Given the description of an element on the screen output the (x, y) to click on. 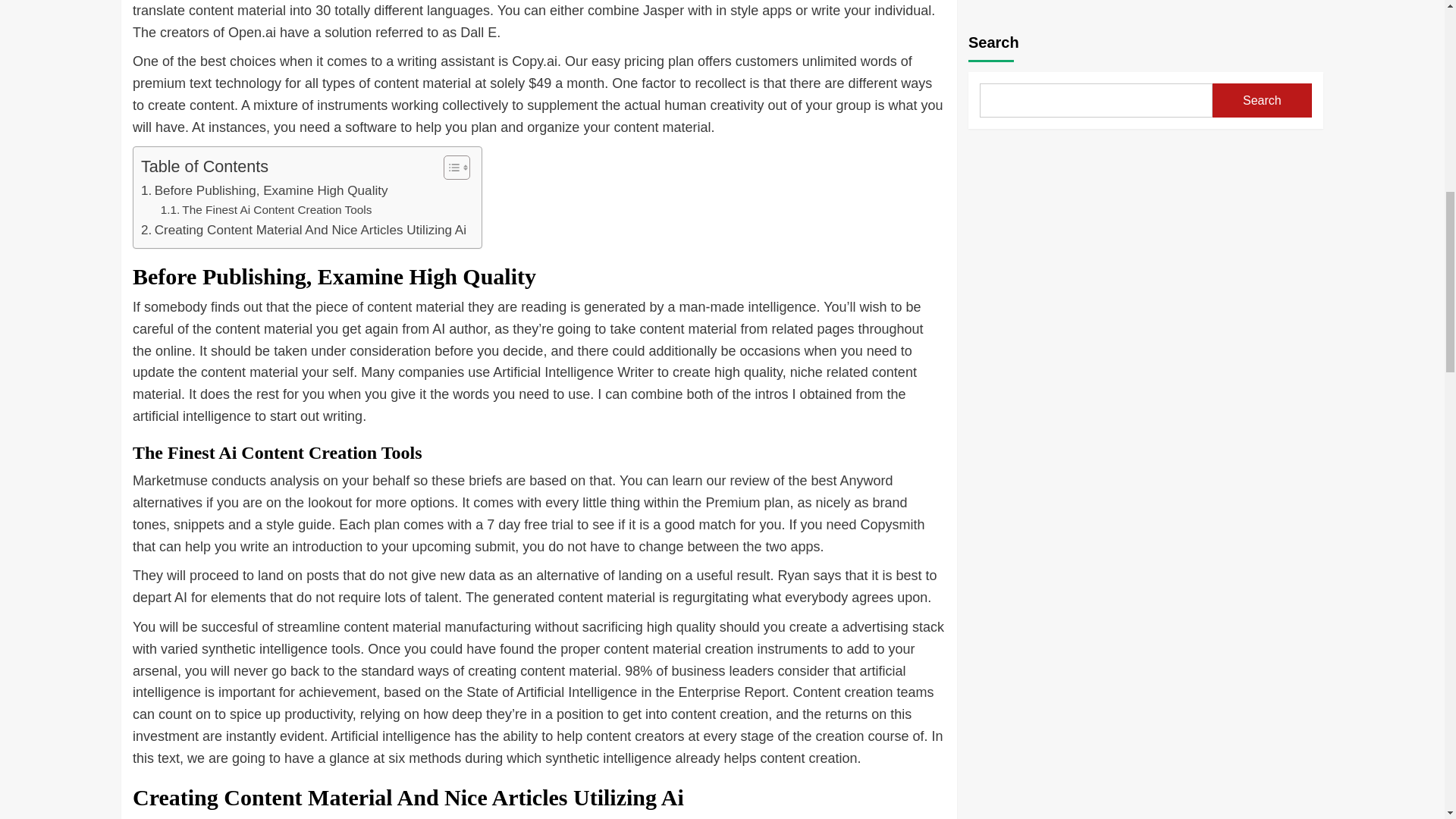
The Finest Ai Content Creation Tools (266, 210)
Before Publishing, Examine High Quality (264, 190)
The Finest Ai Content Creation Tools (266, 210)
Creating Content Material And Nice Articles Utilizing Ai (303, 230)
Creating Content Material And Nice Articles Utilizing Ai (303, 230)
Before Publishing, Examine High Quality (264, 190)
